Given the description of an element on the screen output the (x, y) to click on. 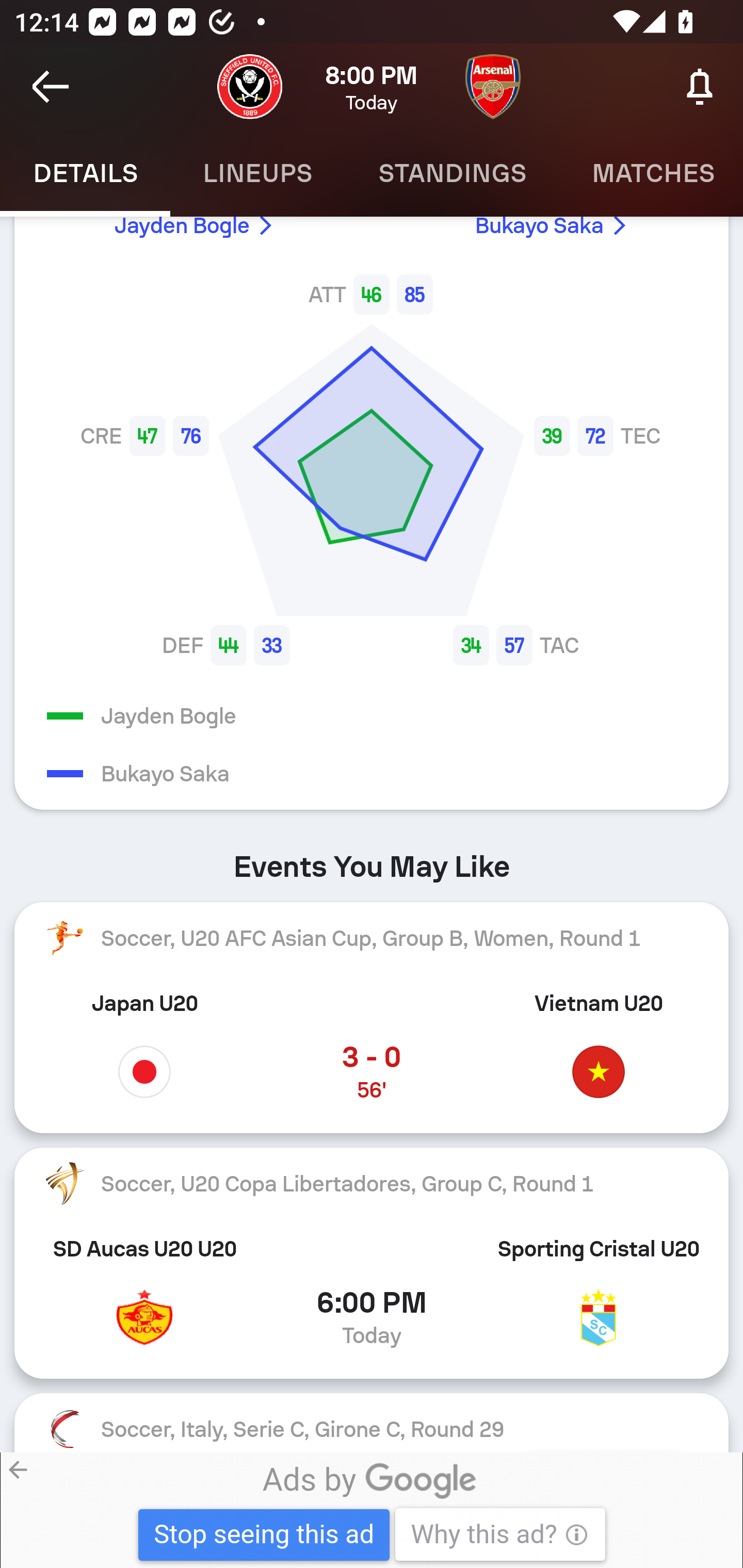
Navigate up (50, 86)
Lineups LINEUPS (257, 173)
Standings STANDINGS (451, 173)
Matches MATCHES (650, 173)
Events You May Like (371, 859)
Soccer, U20 AFC Asian Cup, Group B, Women, Round 1 (371, 937)
Soccer, U20 Copa Libertadores, Group C, Round 1 (371, 1183)
Soccer, Italy, Serie C, Girone C, Round 29 (371, 1421)
